Given the description of an element on the screen output the (x, y) to click on. 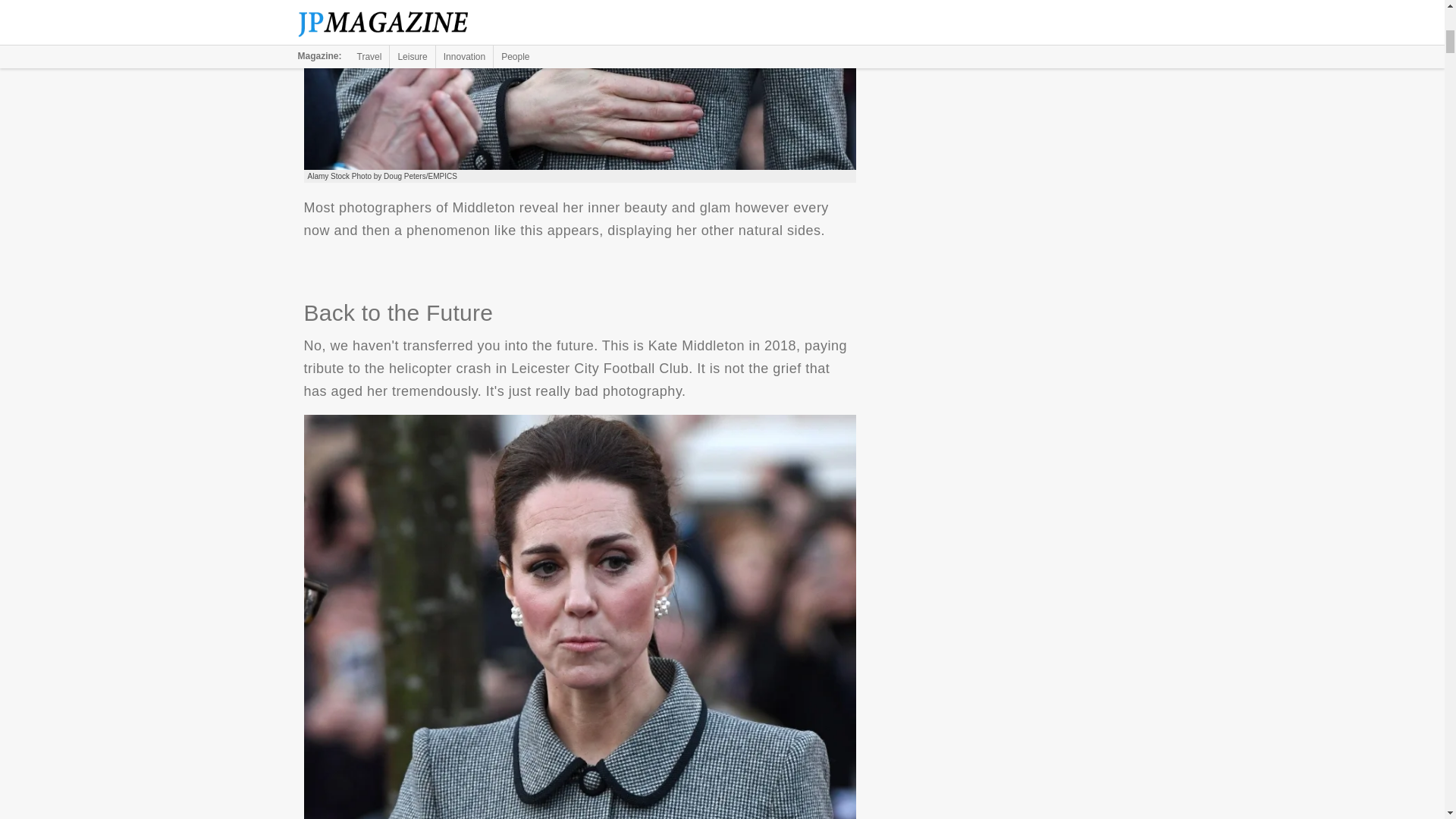
Back to the Future (579, 85)
